Given the description of an element on the screen output the (x, y) to click on. 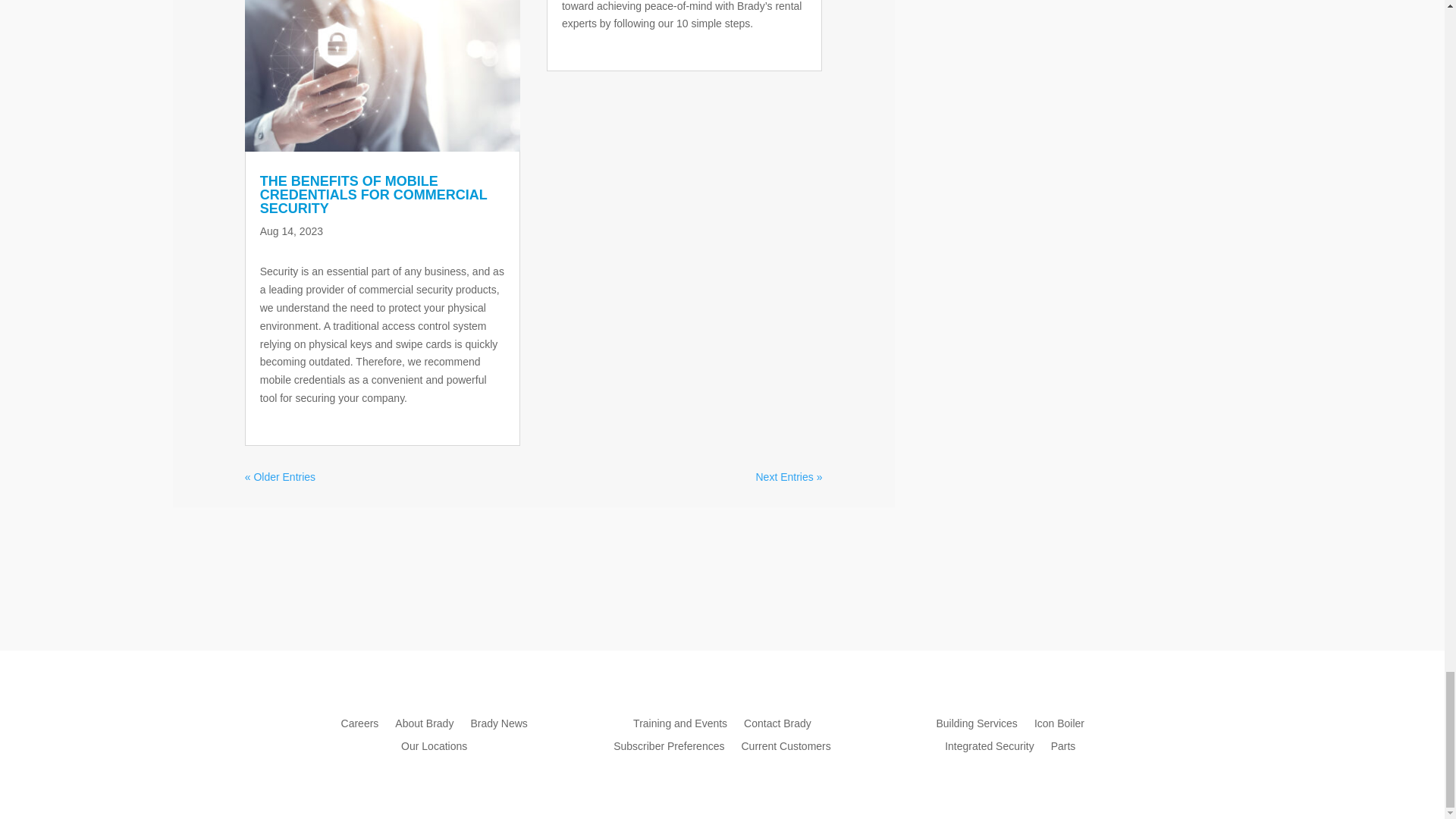
Building Services (976, 726)
THE BENEFITS OF MOBILE CREDENTIALS FOR COMMERCIAL SECURITY (373, 194)
Our Locations (434, 749)
Current Customers (785, 749)
Brady News (498, 726)
About Brady (423, 726)
Contact Brady (777, 726)
Careers (359, 726)
Icon Boiler (1058, 726)
Training and Events (679, 726)
